Given the description of an element on the screen output the (x, y) to click on. 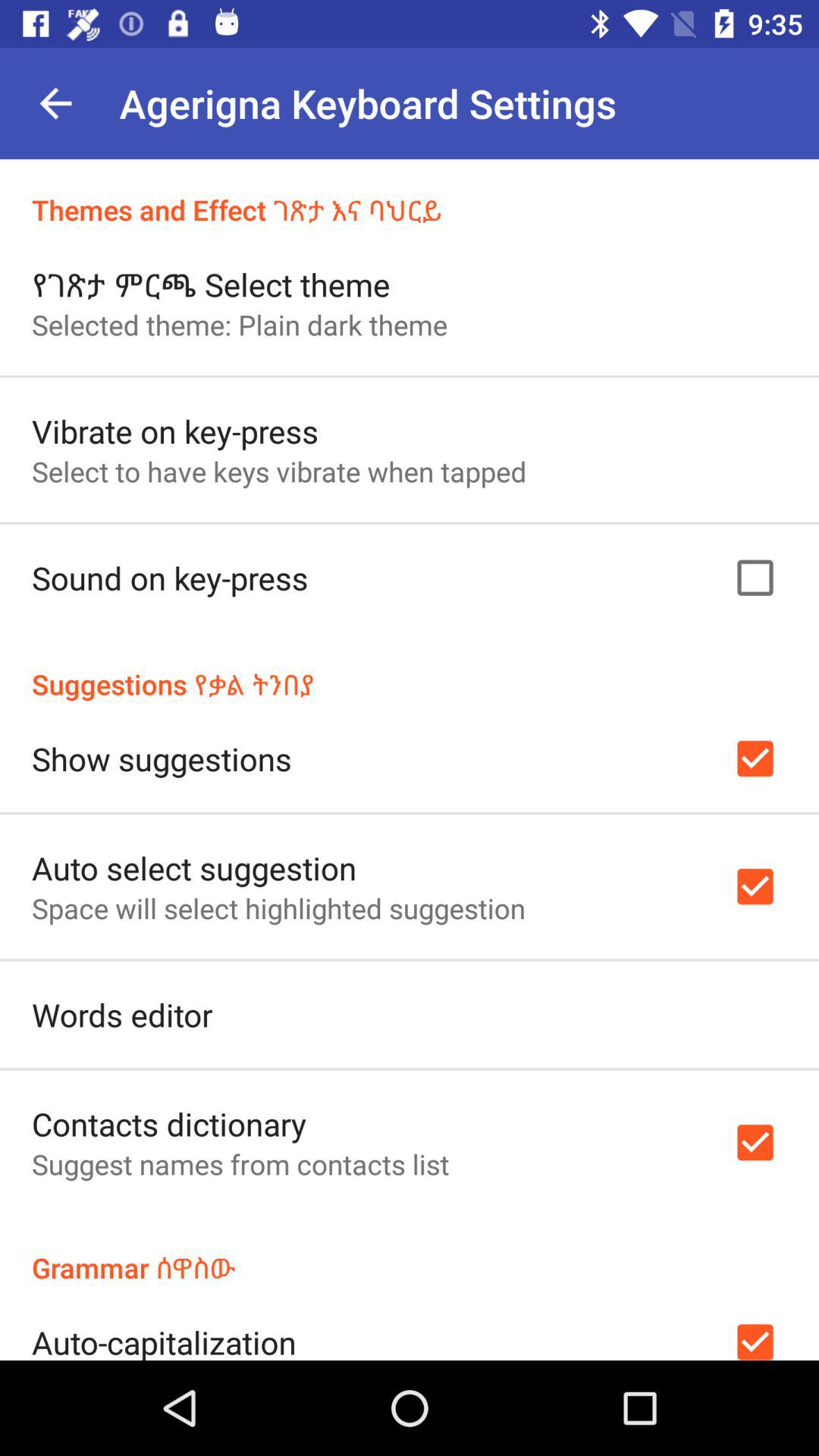
click the contacts dictionary icon (168, 1123)
